Given the description of an element on the screen output the (x, y) to click on. 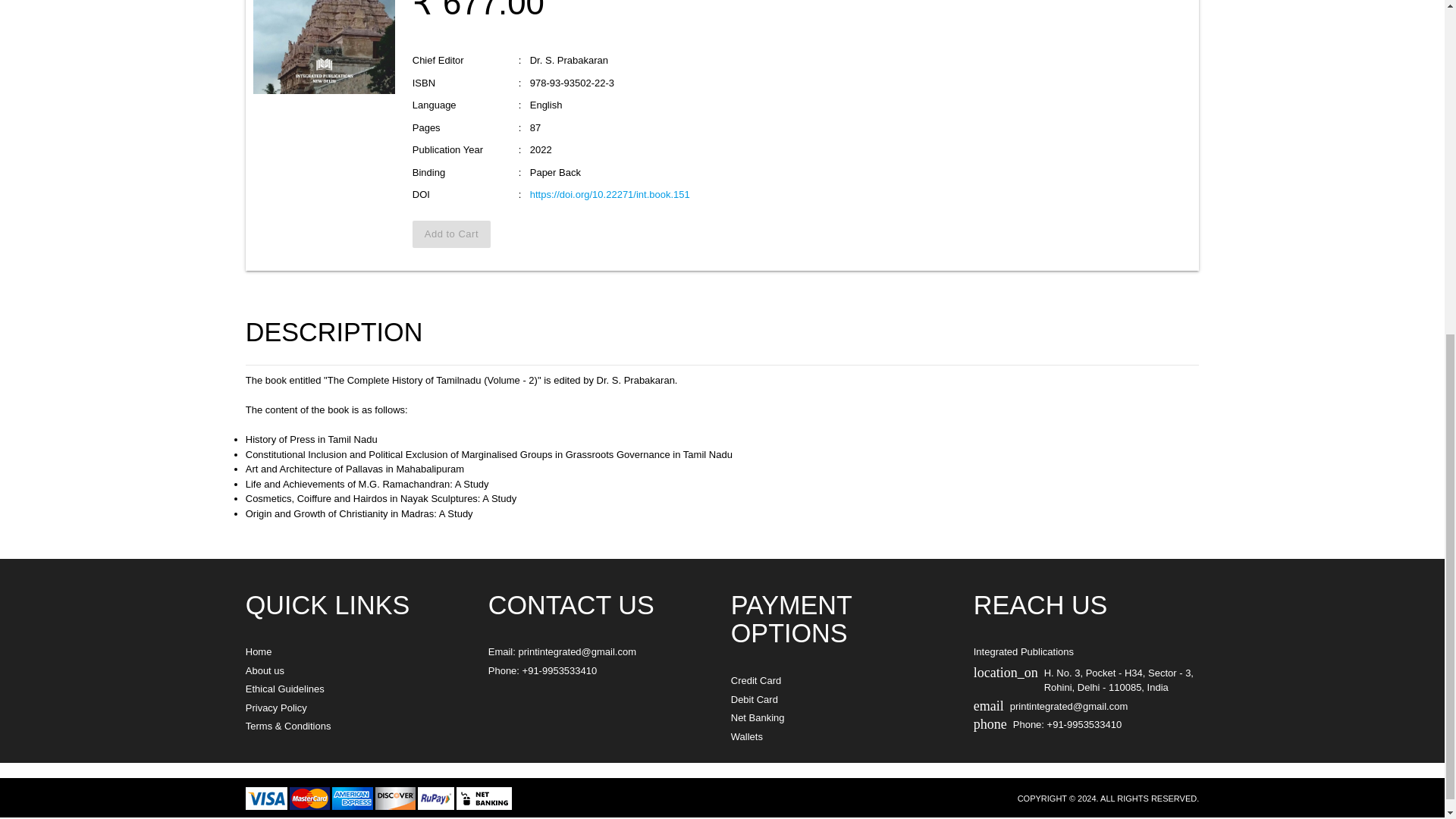
Privacy Policy (276, 707)
Home (259, 651)
Add to Cart (451, 234)
Ethical Guidelines (285, 688)
About us (264, 670)
